Given the description of an element on the screen output the (x, y) to click on. 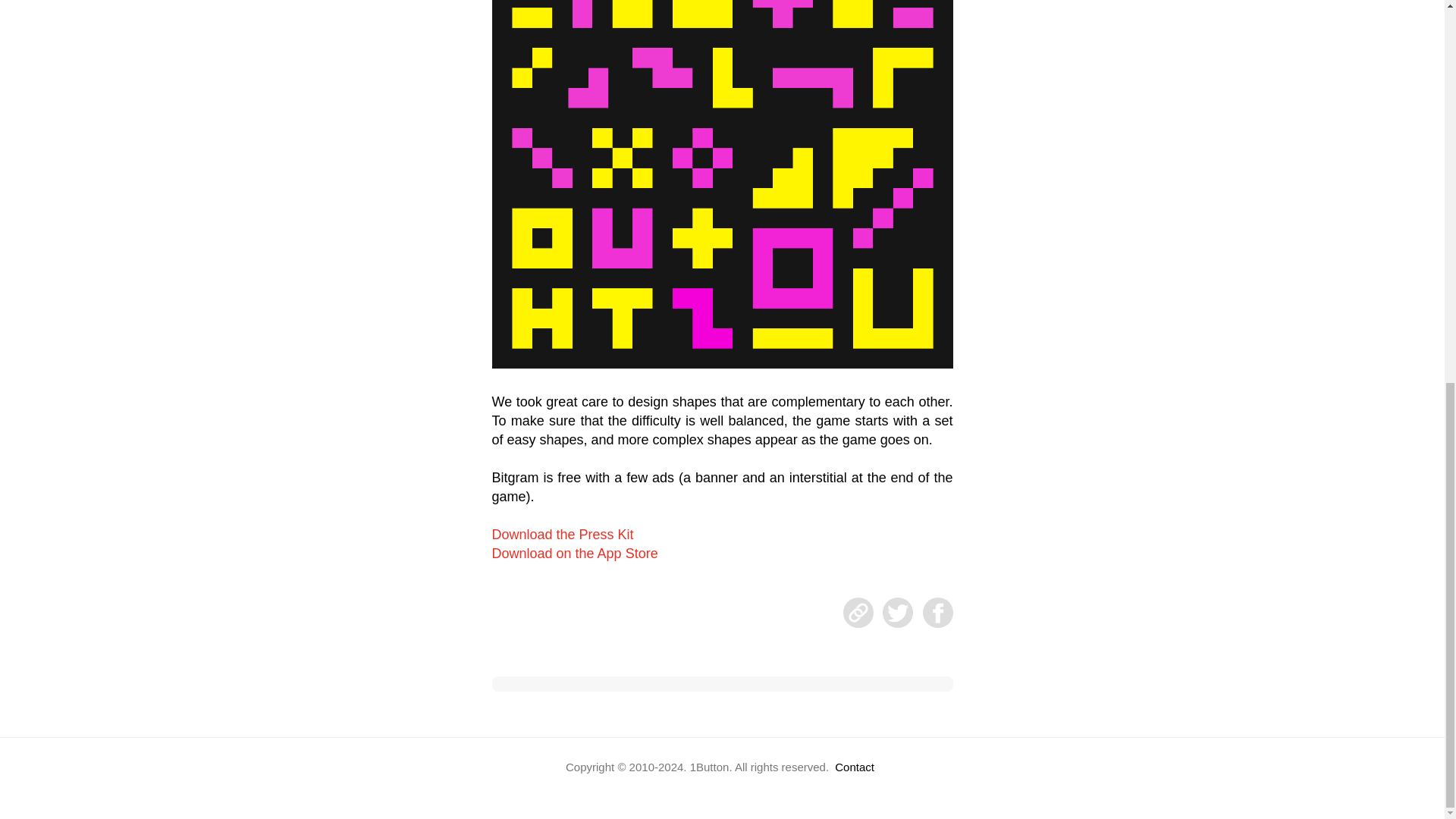
Download the Press Kit (562, 534)
Download on the App Store (575, 553)
Contact (854, 766)
